Given the description of an element on the screen output the (x, y) to click on. 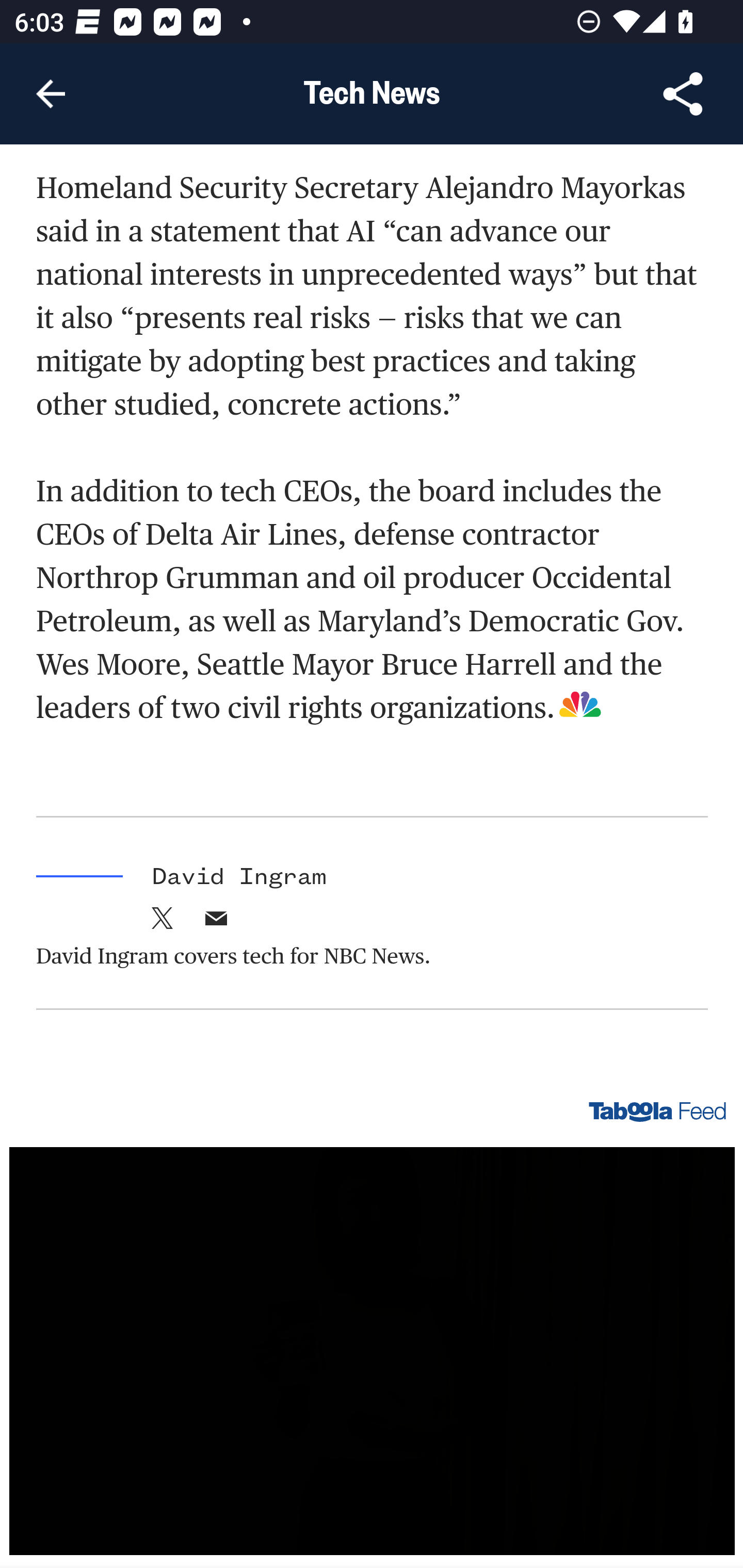
Navigate up (50, 93)
Share Article, button (683, 94)
David Ingram (238, 877)
 (162, 924)
 (215, 924)
